Given the description of an element on the screen output the (x, y) to click on. 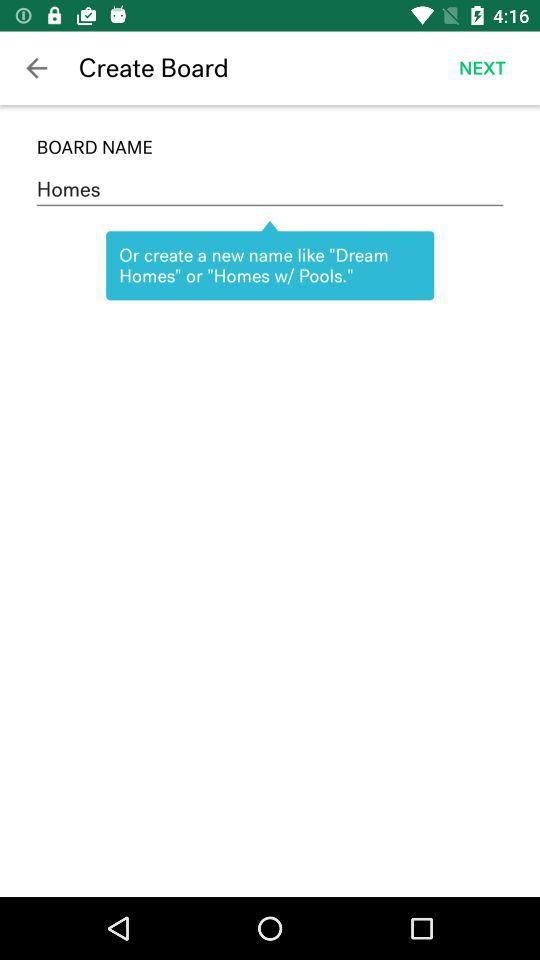
launch the icon above board name (36, 68)
